Given the description of an element on the screen output the (x, y) to click on. 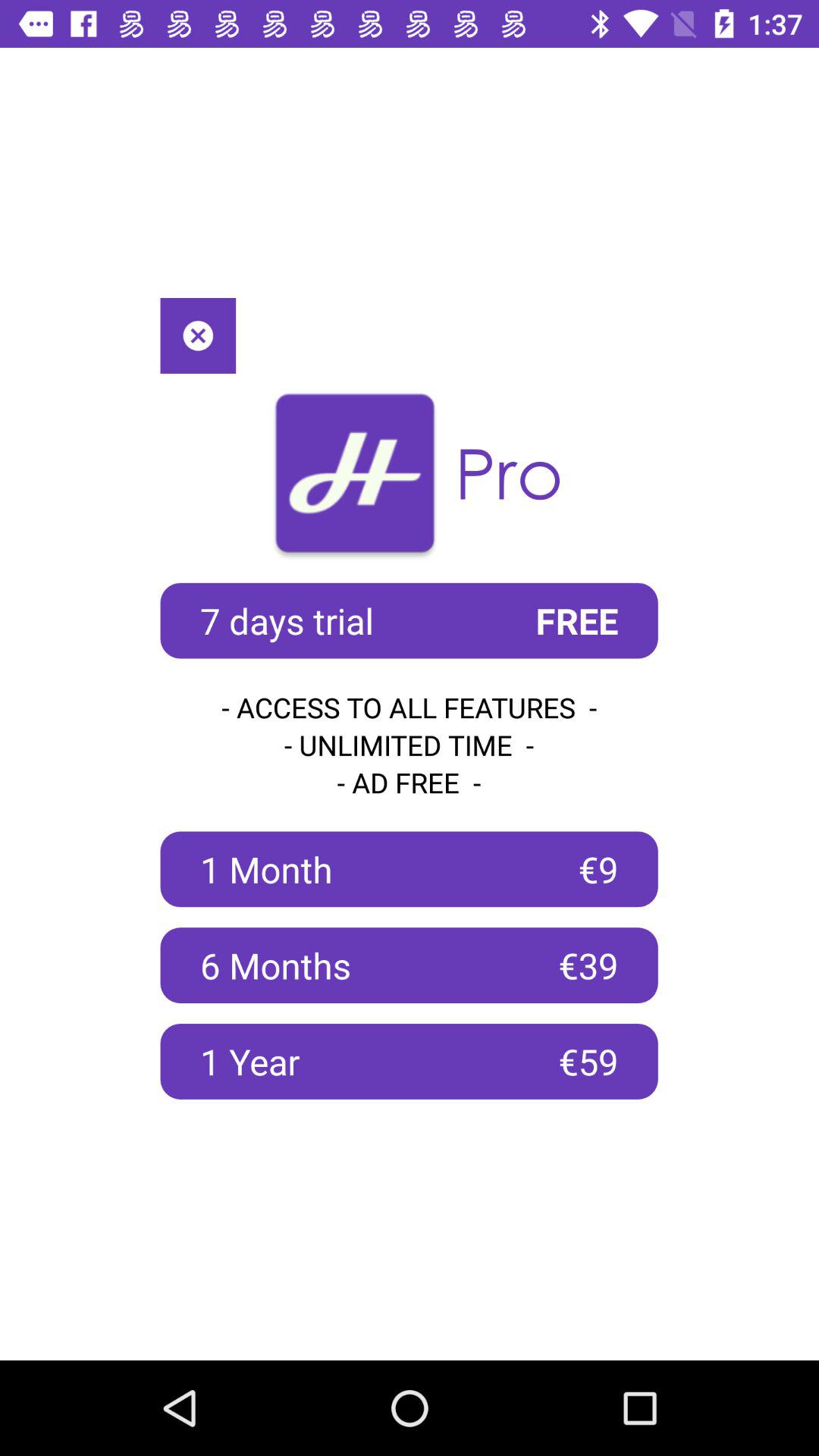
exit to the previous screen (198, 335)
